Given the description of an element on the screen output the (x, y) to click on. 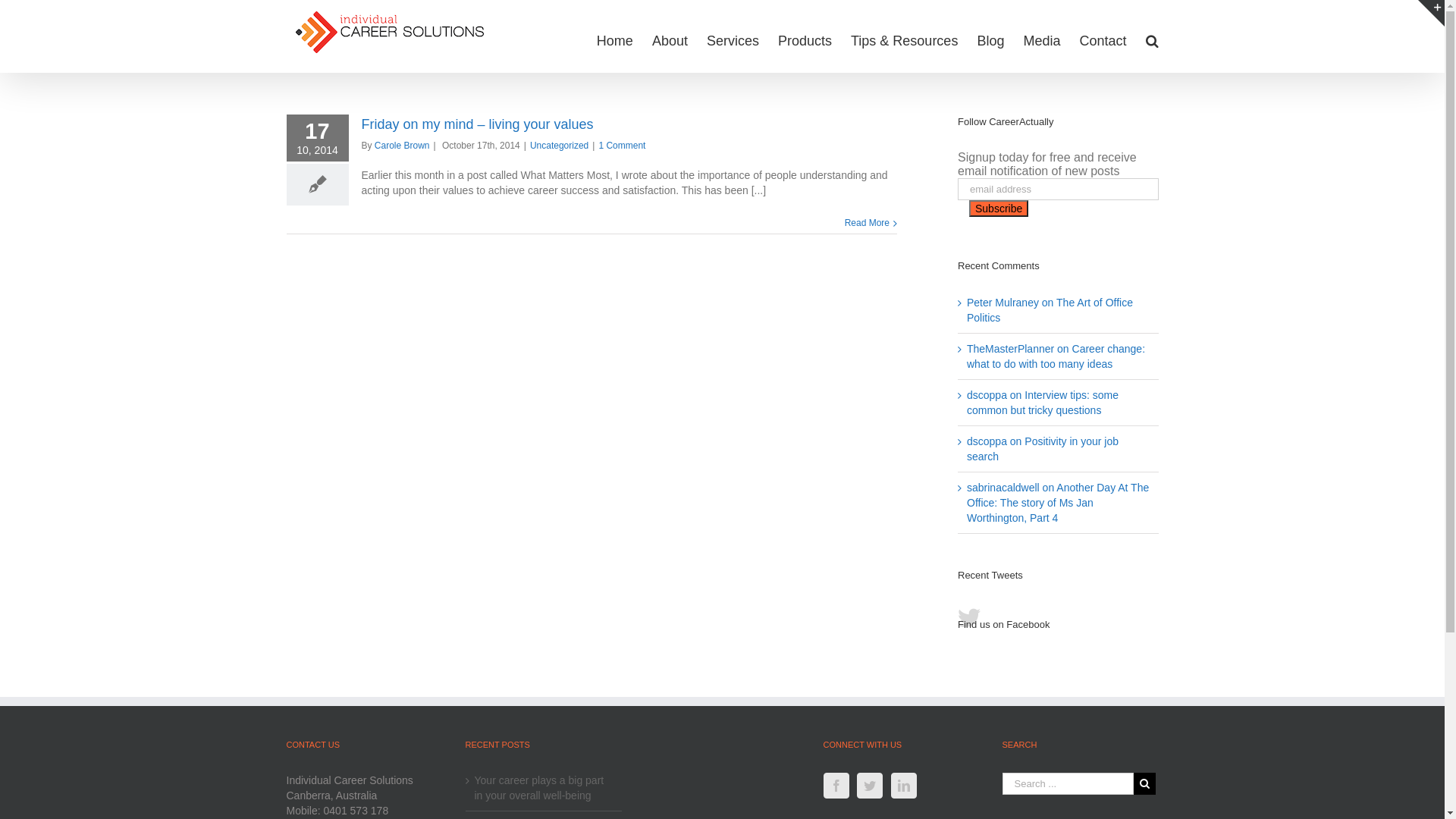
Blog Element type: text (990, 39)
1 Comment Element type: text (621, 145)
Peter Mulraney Element type: text (1002, 302)
Your career plays a big part in your overall well-being Element type: text (544, 787)
Subscribe Element type: text (998, 208)
Services Element type: text (732, 39)
The Art of Office Politics Element type: text (1049, 309)
Positivity in your job search Element type: text (1042, 448)
Read More Element type: text (866, 222)
dscoppa Element type: text (986, 441)
Home Element type: text (614, 39)
sabrinacaldwell Element type: text (1002, 487)
TheMasterPlanner Element type: text (1010, 348)
Media Element type: text (1041, 39)
Interview tips: some common but tricky questions Element type: text (1042, 402)
About Element type: text (669, 39)
Uncategorized Element type: text (559, 145)
Career change: what to do with too many ideas Element type: text (1055, 356)
Tips & Resources Element type: text (903, 39)
Carole Brown Element type: text (401, 145)
Contact Element type: text (1102, 39)
Products Element type: text (804, 39)
dscoppa Element type: text (986, 395)
